Given the description of an element on the screen output the (x, y) to click on. 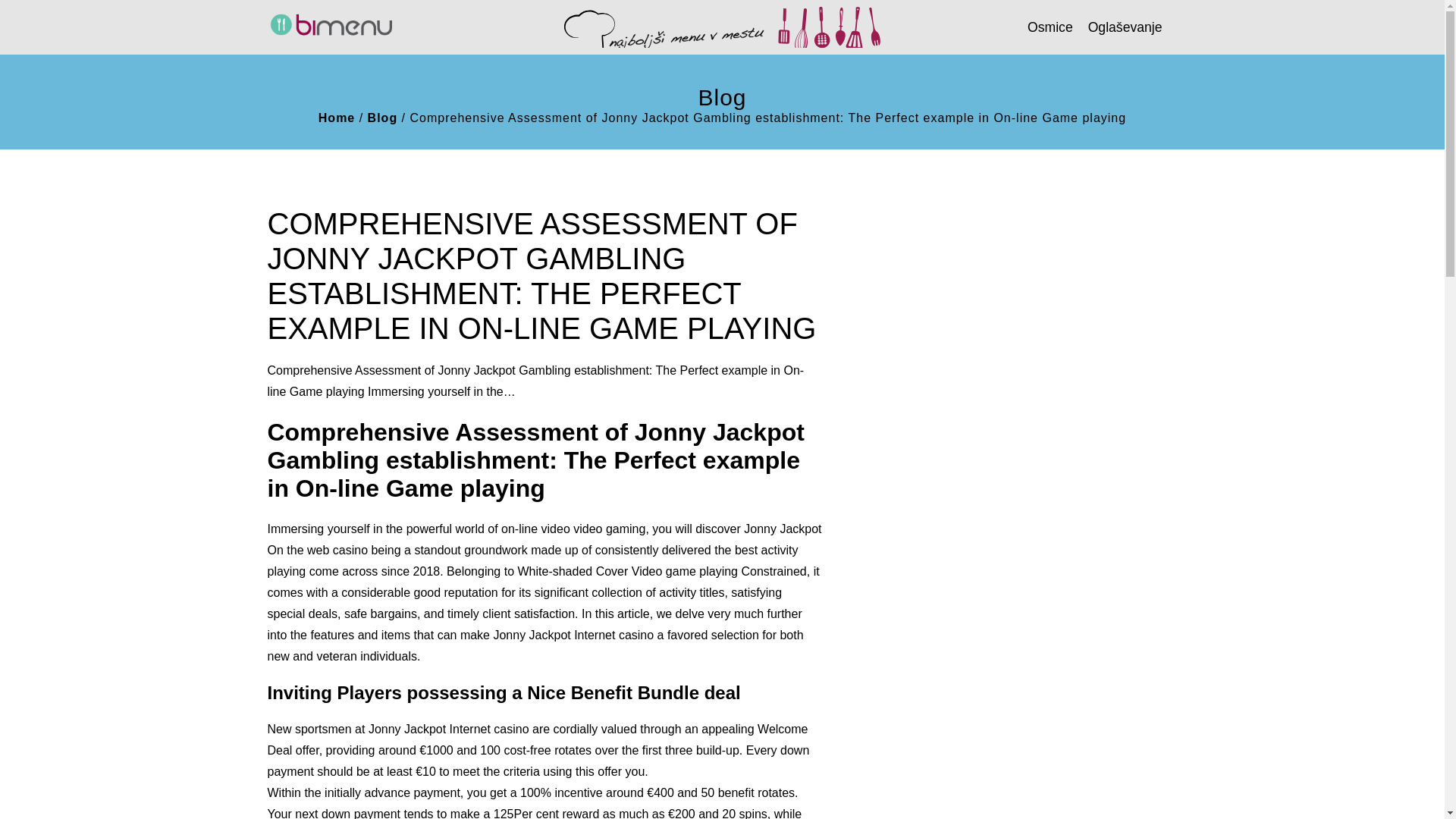
Home (336, 116)
Home (336, 116)
Osmice (1050, 26)
Blog (382, 116)
Blog (382, 116)
Osmice (1050, 26)
